Given the description of an element on the screen output the (x, y) to click on. 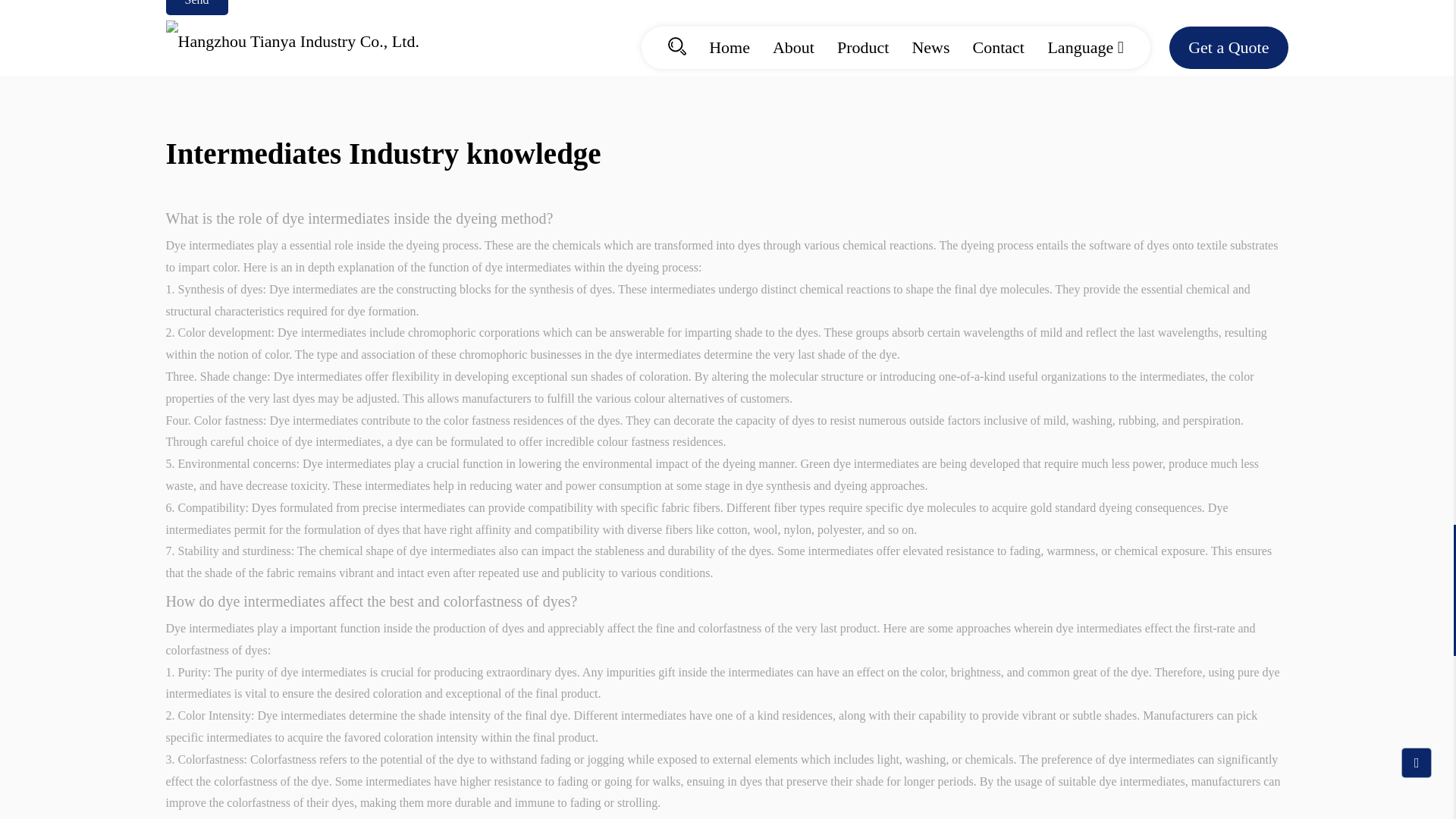
Send (196, 7)
